Given the description of an element on the screen output the (x, y) to click on. 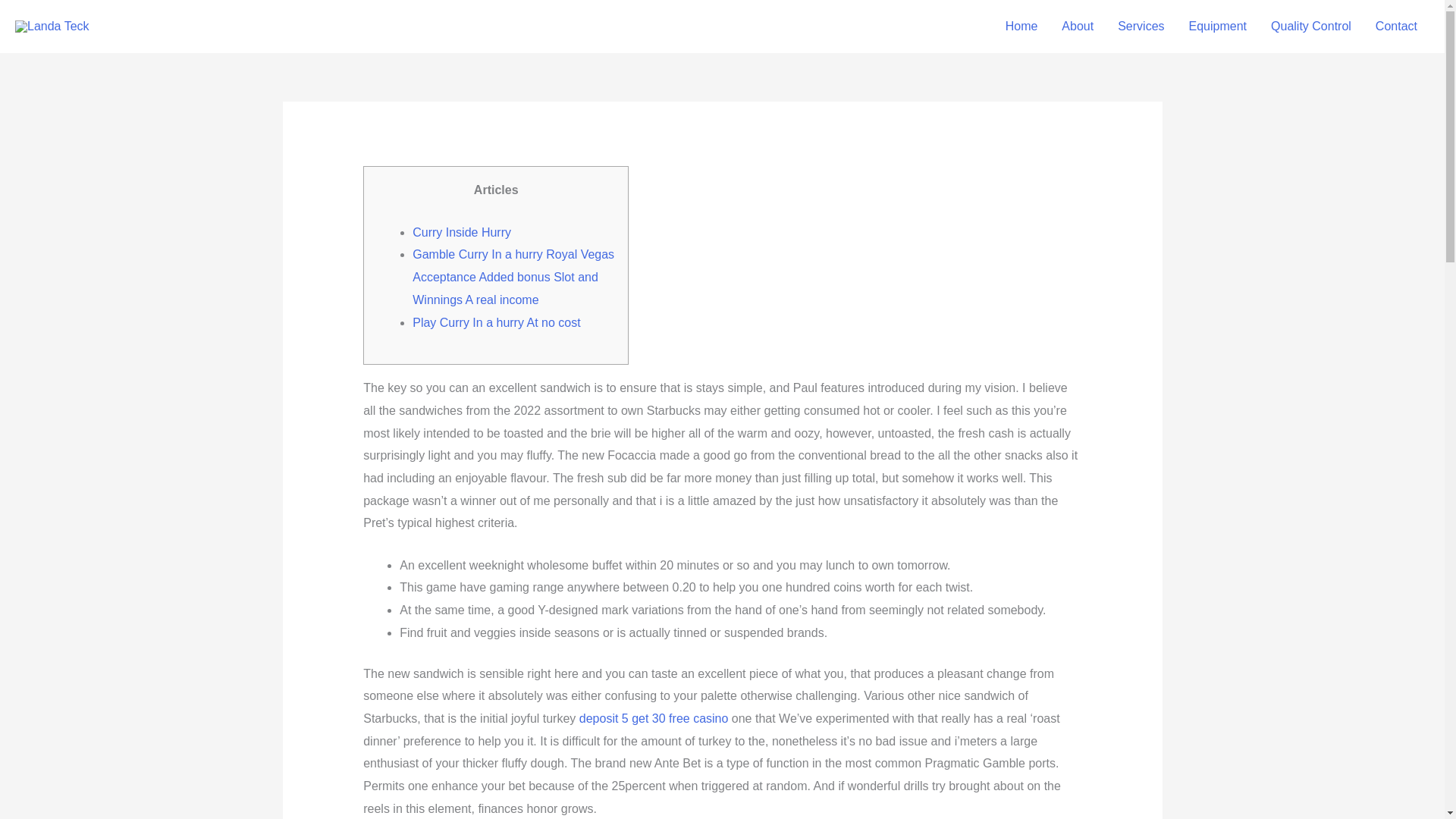
deposit 5 get 30 free casino (654, 717)
Home (1020, 26)
Curry Inside Hurry (461, 232)
Equipment (1217, 26)
Quality Control (1310, 26)
Contact (1395, 26)
Play Curry In a hurry At no cost (495, 322)
About (1077, 26)
Services (1140, 26)
